Given the description of an element on the screen output the (x, y) to click on. 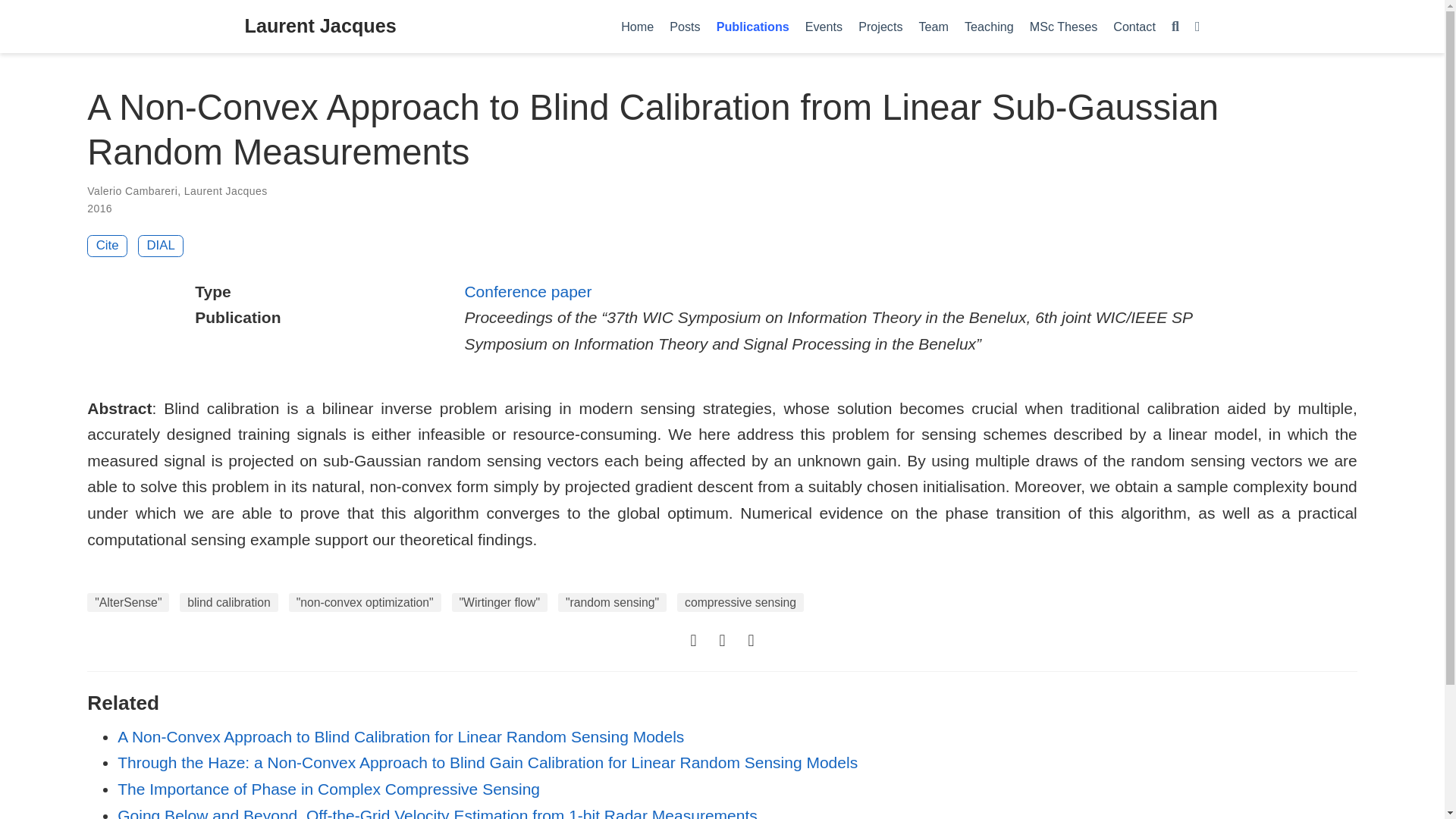
Home (637, 25)
"non-convex optimization" (364, 602)
"Wirtinger flow" (499, 602)
Laurent Jacques (320, 26)
Events (823, 25)
Valerio Cambareri (132, 191)
"random sensing" (611, 602)
Cite (107, 246)
Laurent Jacques (225, 191)
